Given the description of an element on the screen output the (x, y) to click on. 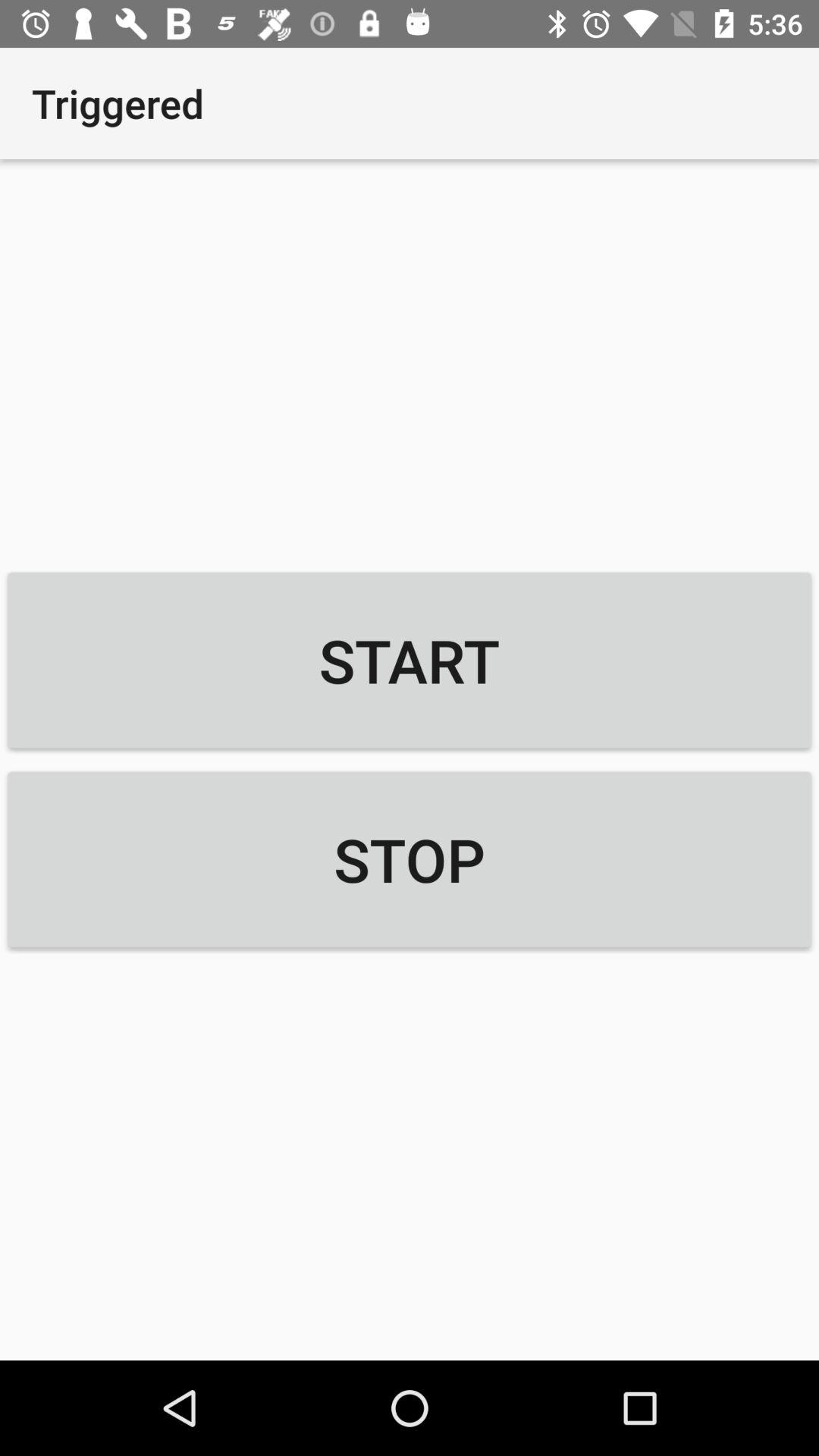
press the icon below triggered (409, 659)
